Given the description of an element on the screen output the (x, y) to click on. 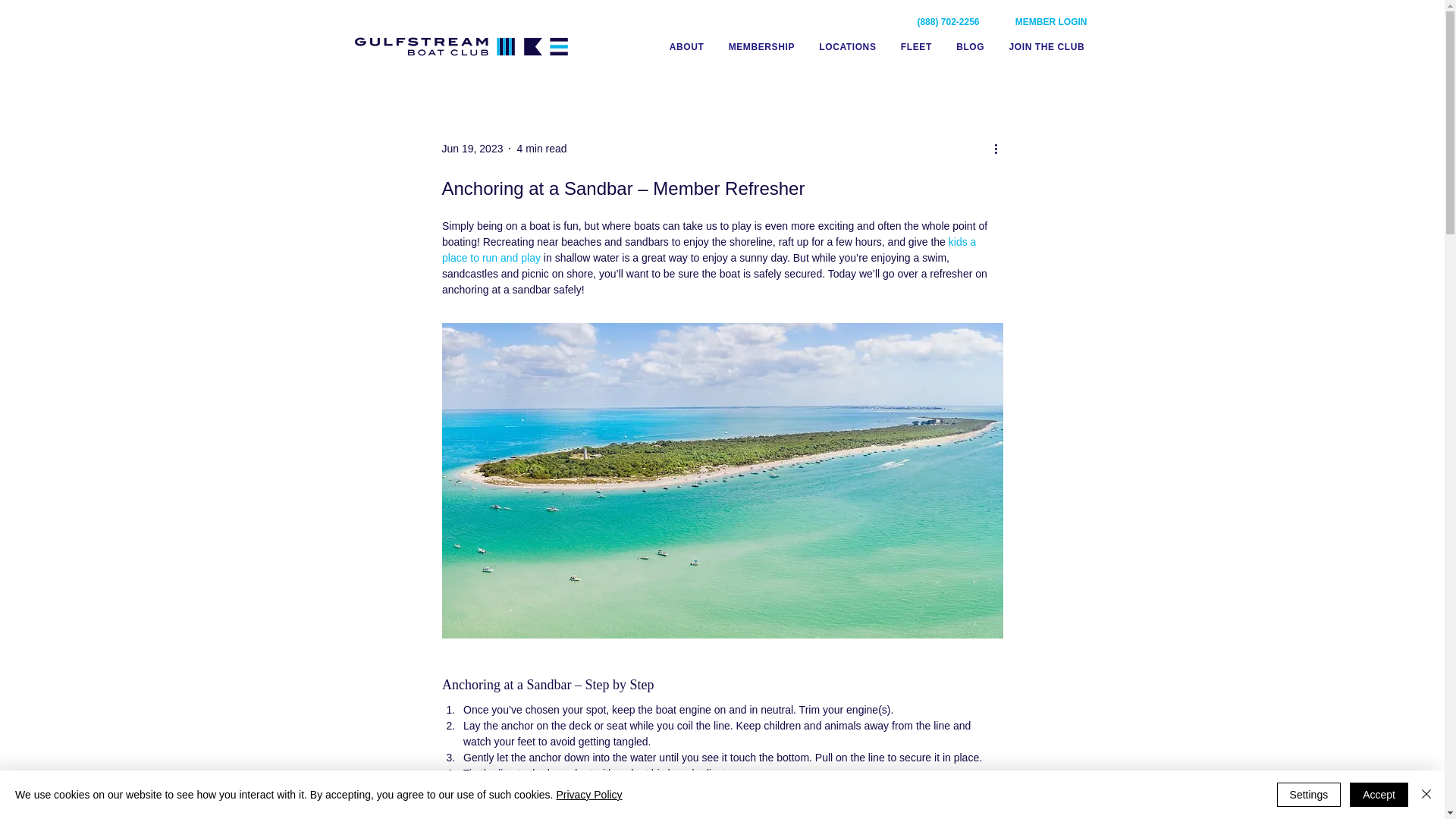
Jun 19, 2023 (471, 148)
FLEET (915, 46)
MEMBER LOGIN (1039, 21)
BLOG (969, 46)
4 min read (541, 148)
LOCATIONS (847, 46)
JOIN THE CLUB (876, 46)
ABOUT (1045, 46)
kids a place to run and play (687, 46)
